Given the description of an element on the screen output the (x, y) to click on. 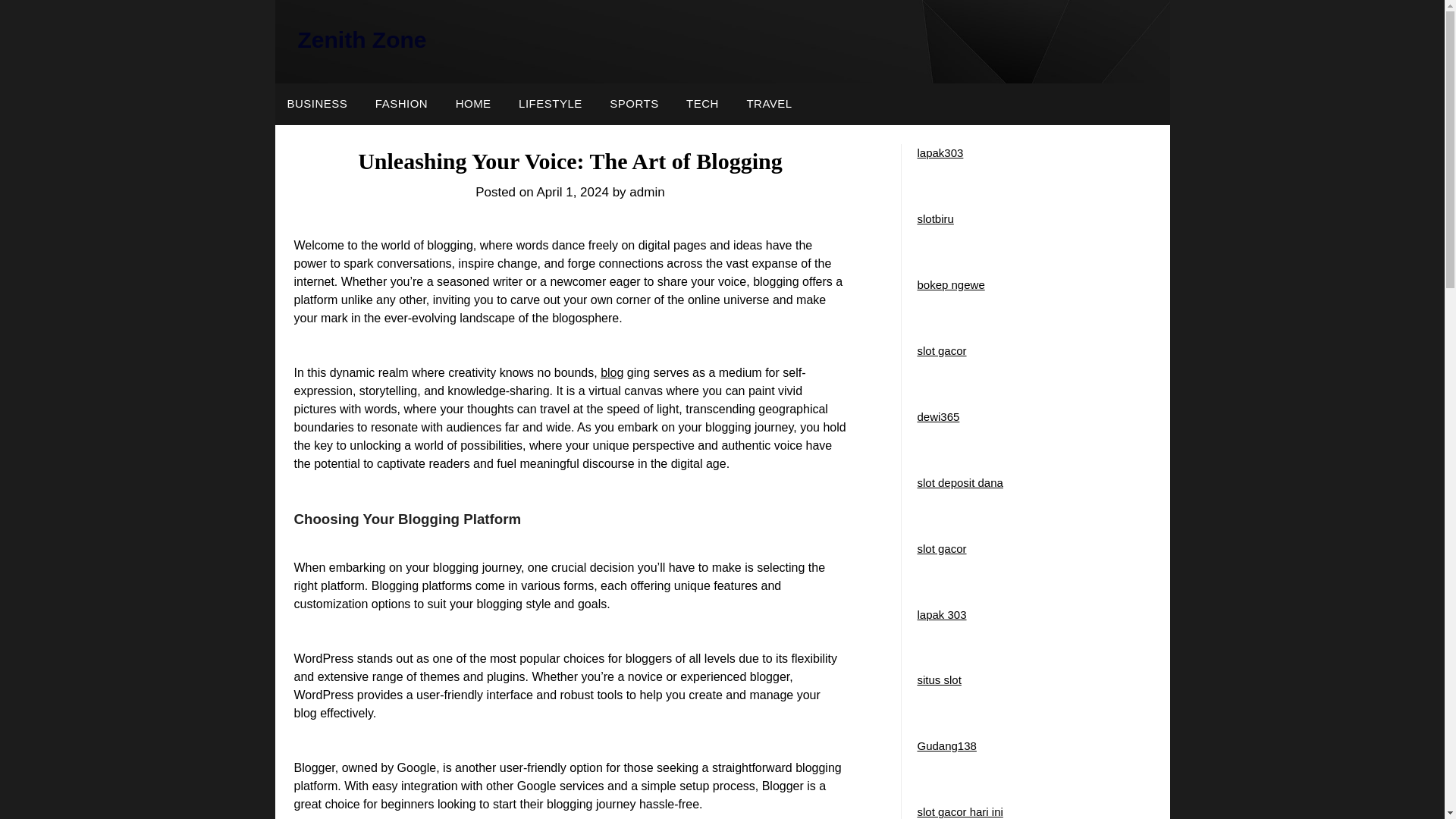
slot gacor (941, 350)
TECH (702, 103)
April 1, 2024 (571, 192)
slot gacor hari ini (960, 811)
FASHION (400, 103)
SPORTS (632, 103)
blog (611, 372)
slot deposit dana (960, 481)
lapak 303 (941, 614)
slotbiru (935, 218)
